Given the description of an element on the screen output the (x, y) to click on. 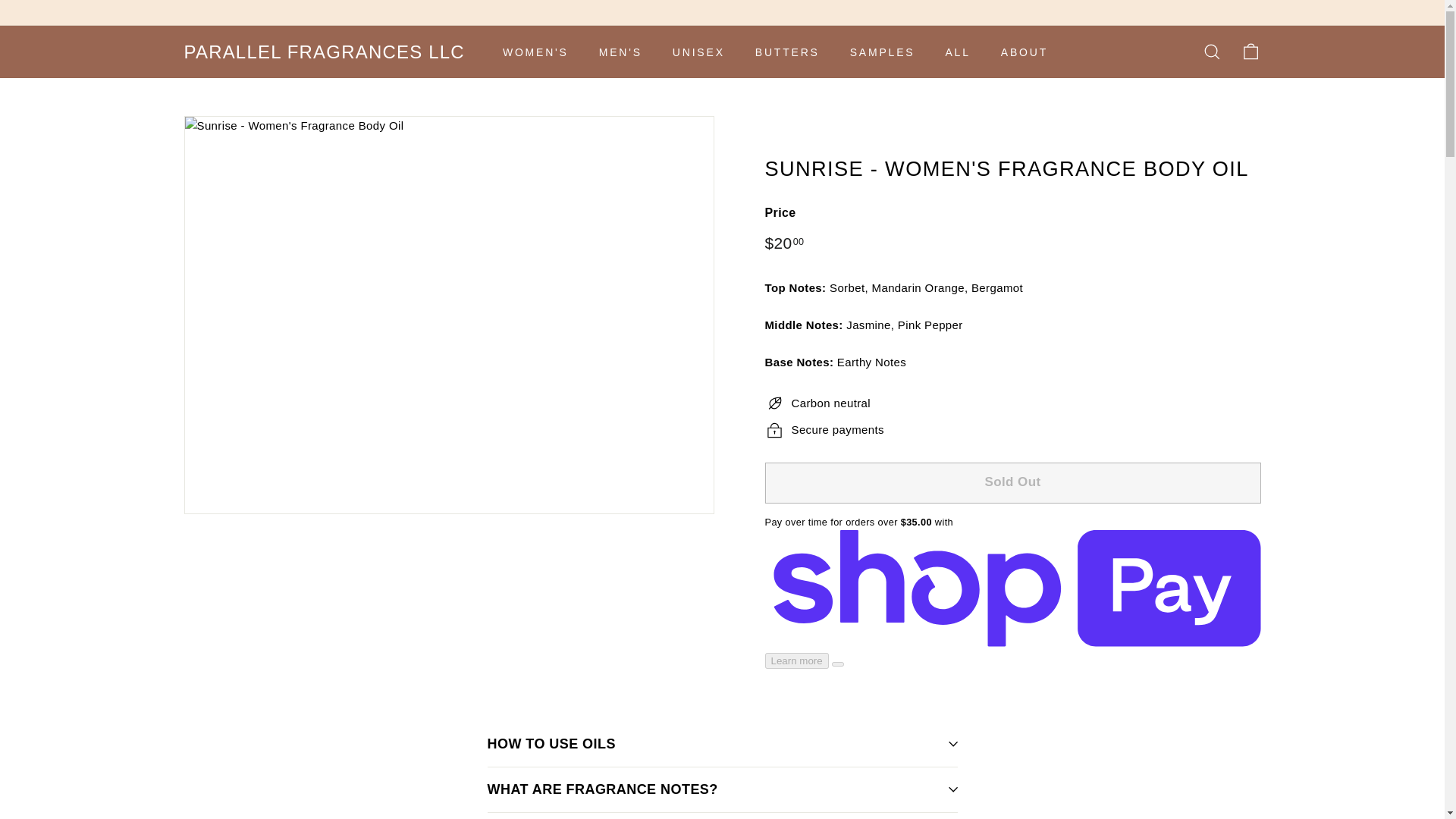
MEN'S (620, 51)
SHIPPING INFORMATION (721, 816)
SEARCH (1211, 51)
SAMPLES (882, 51)
WHAT ARE FRAGRANCE NOTES? (721, 790)
UNISEX (698, 51)
PARALLEL FRAGRANCES LLC (323, 52)
ALL (957, 51)
ABOUT (1023, 51)
BUTTERS (786, 51)
Sold Out (1012, 482)
HOW TO USE OILS (721, 744)
WOMEN'S (535, 51)
